Given the description of an element on the screen output the (x, y) to click on. 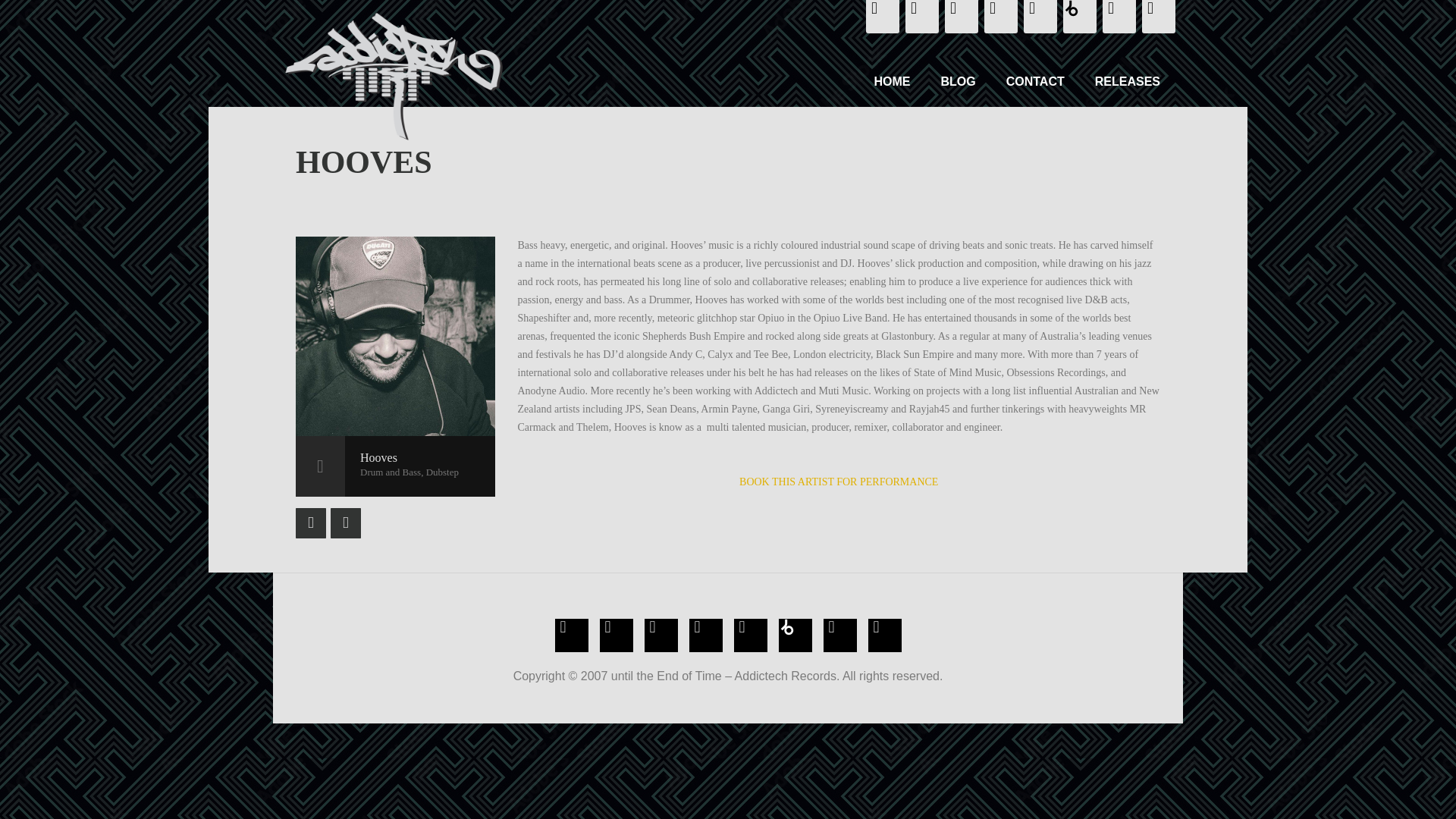
BOOK THIS ARTIST FOR PERFORMANCE (838, 481)
RELEASES (1127, 81)
BLOG (957, 81)
CONTACT (1035, 81)
HOME (891, 81)
